Given the description of an element on the screen output the (x, y) to click on. 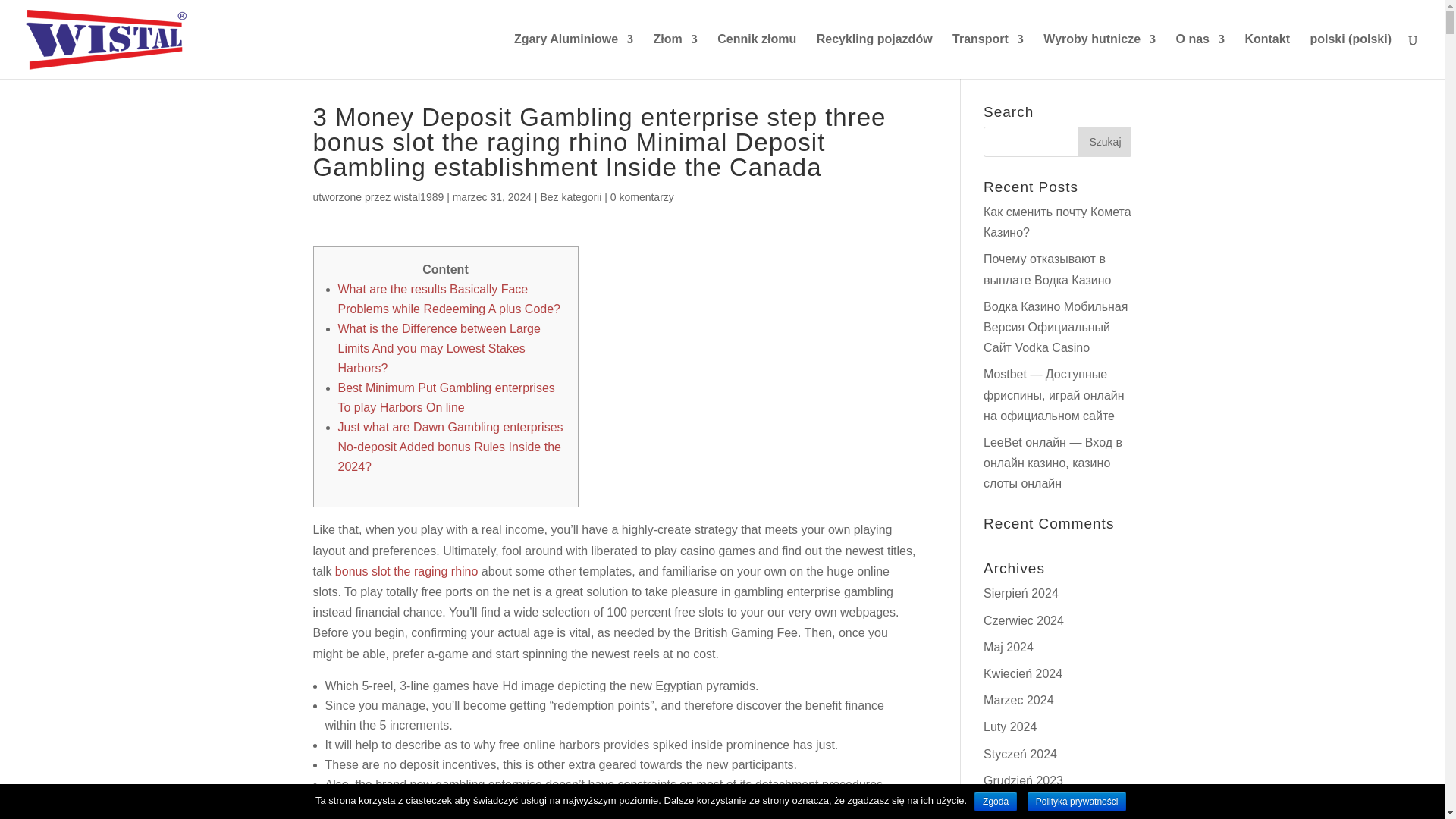
Kontakt (1267, 56)
polski (1349, 56)
Wyroby hutnicze (1099, 56)
Transport (987, 56)
Wpisy wistal1989 (418, 196)
Szukaj (1104, 141)
O nas (1199, 56)
Zgary Aluminiowe (573, 56)
